Given the description of an element on the screen output the (x, y) to click on. 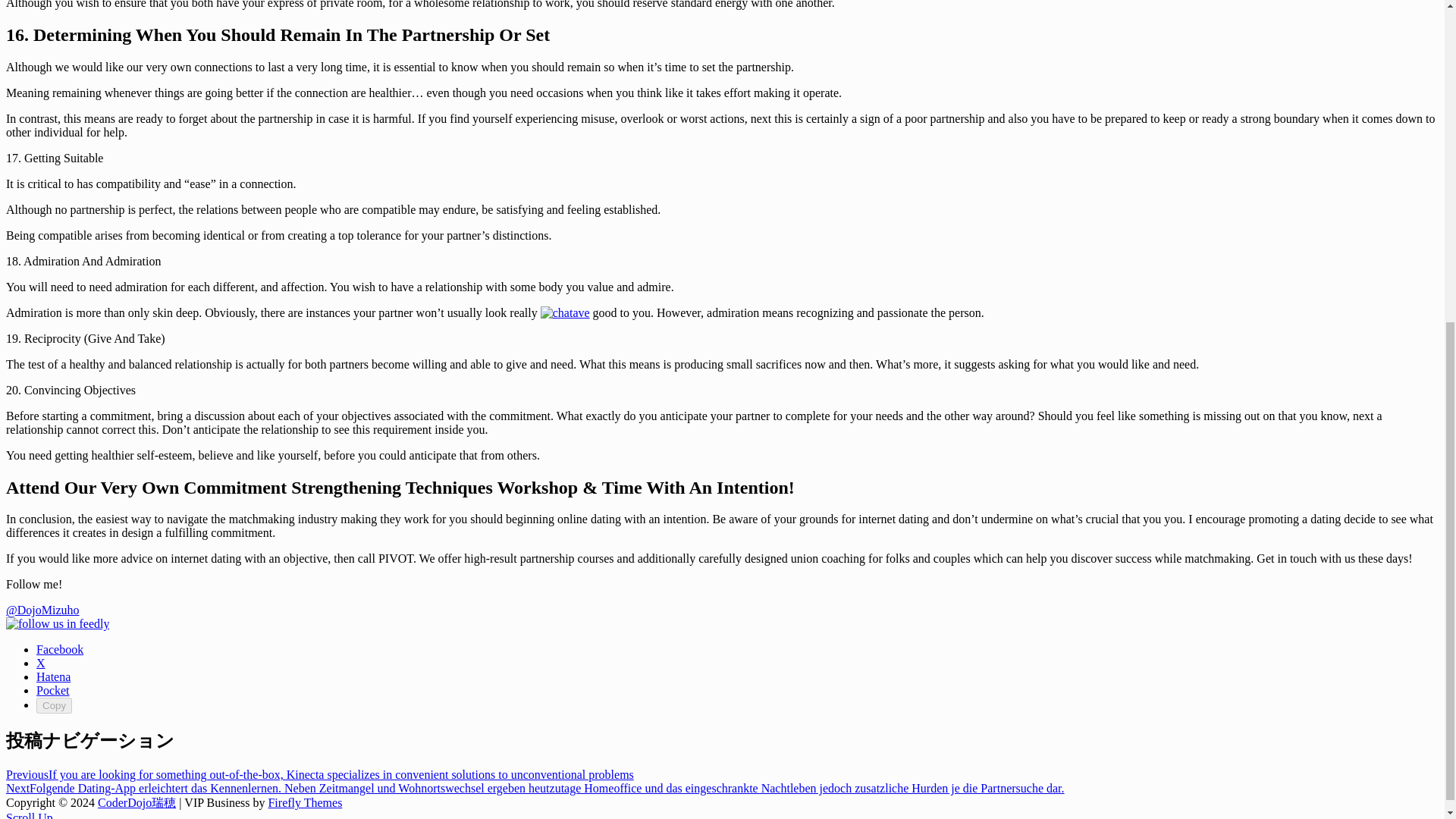
Firefly Themes (304, 802)
Facebook (59, 649)
Hatena (52, 676)
Pocket (52, 689)
Copy (53, 705)
